Given the description of an element on the screen output the (x, y) to click on. 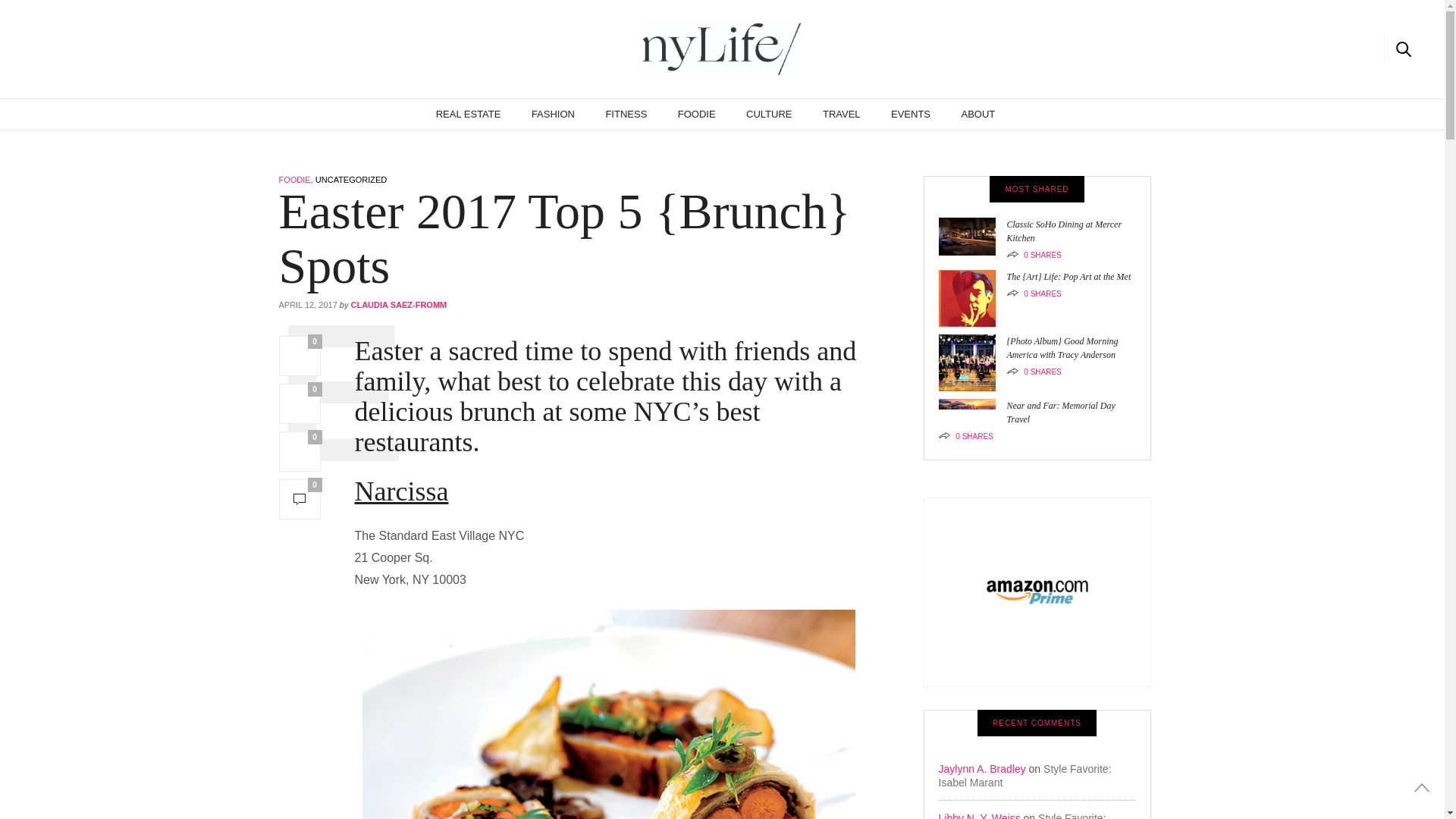
Posts by Claudia Saez-Fromm (398, 304)
TRAVEL (841, 114)
ABOUT (977, 114)
0 (299, 499)
0 (299, 404)
EVENTS (910, 114)
UNCATEGORIZED (351, 179)
Claudia Saez-Fromm (722, 49)
FASHION (553, 114)
FOODIE (295, 179)
